Given the description of an element on the screen output the (x, y) to click on. 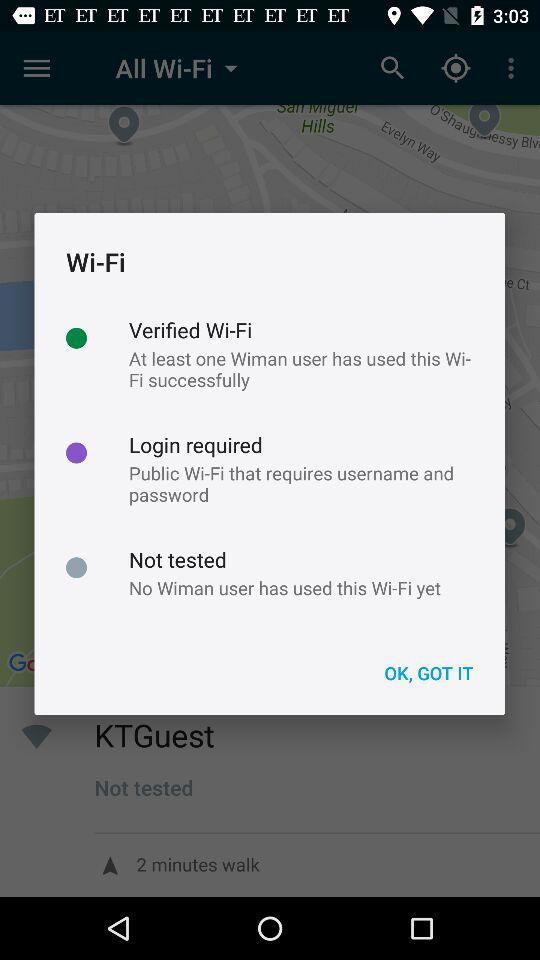
swipe to the ok, got it icon (428, 672)
